Given the description of an element on the screen output the (x, y) to click on. 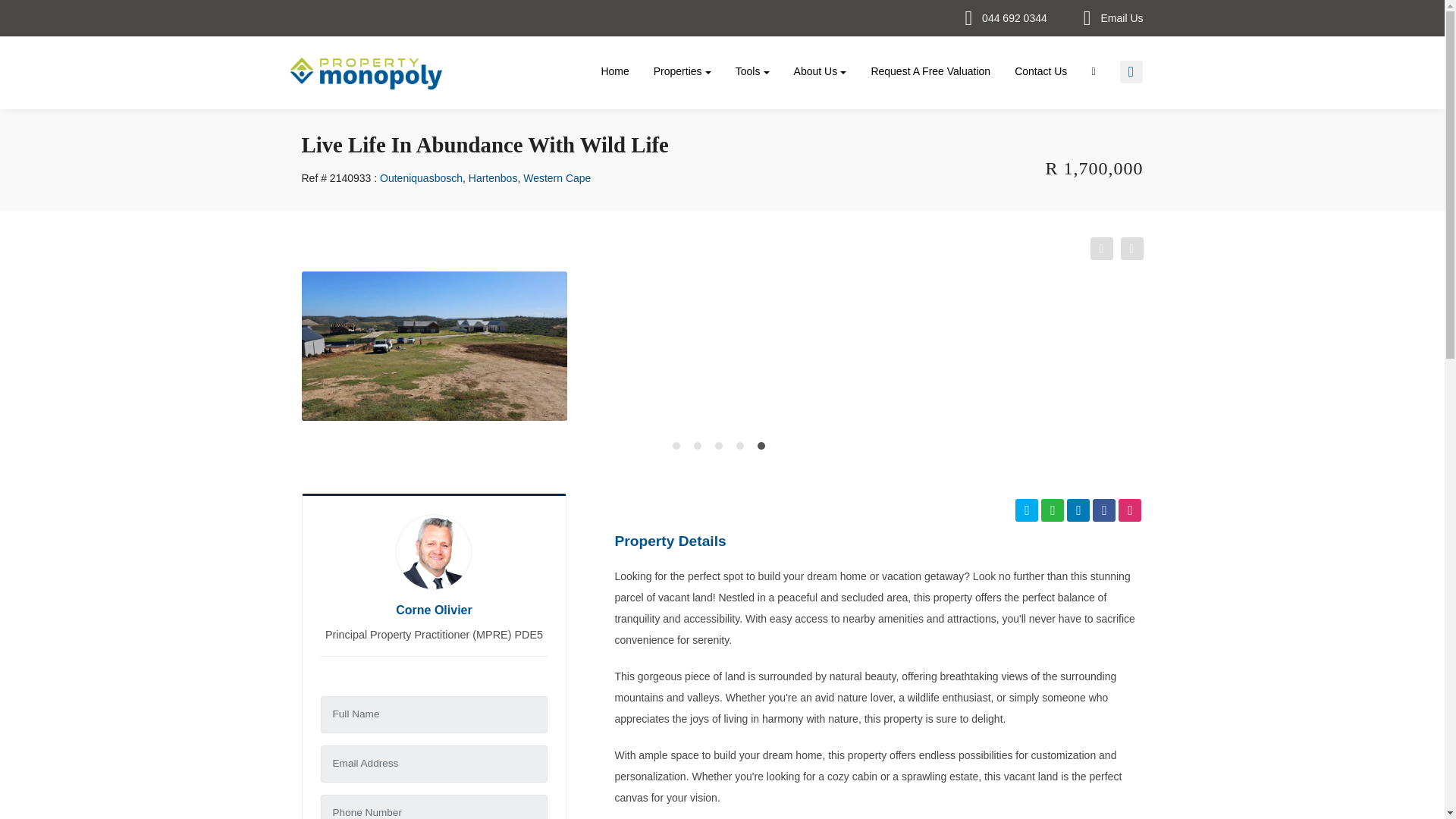
Home (613, 71)
Hartenbos (493, 177)
1 (679, 449)
Outeniquasbosch (421, 177)
Request A Free Valuation (930, 71)
2 (700, 449)
Western Cape (556, 177)
Contact Us (1040, 71)
Email Us (1121, 17)
Properties (682, 71)
Share on LinkedIn (1077, 509)
Share on Facebook (1103, 509)
About Us (820, 71)
Share on Whatsapp (1052, 509)
Previous (1101, 248)
